Given the description of an element on the screen output the (x, y) to click on. 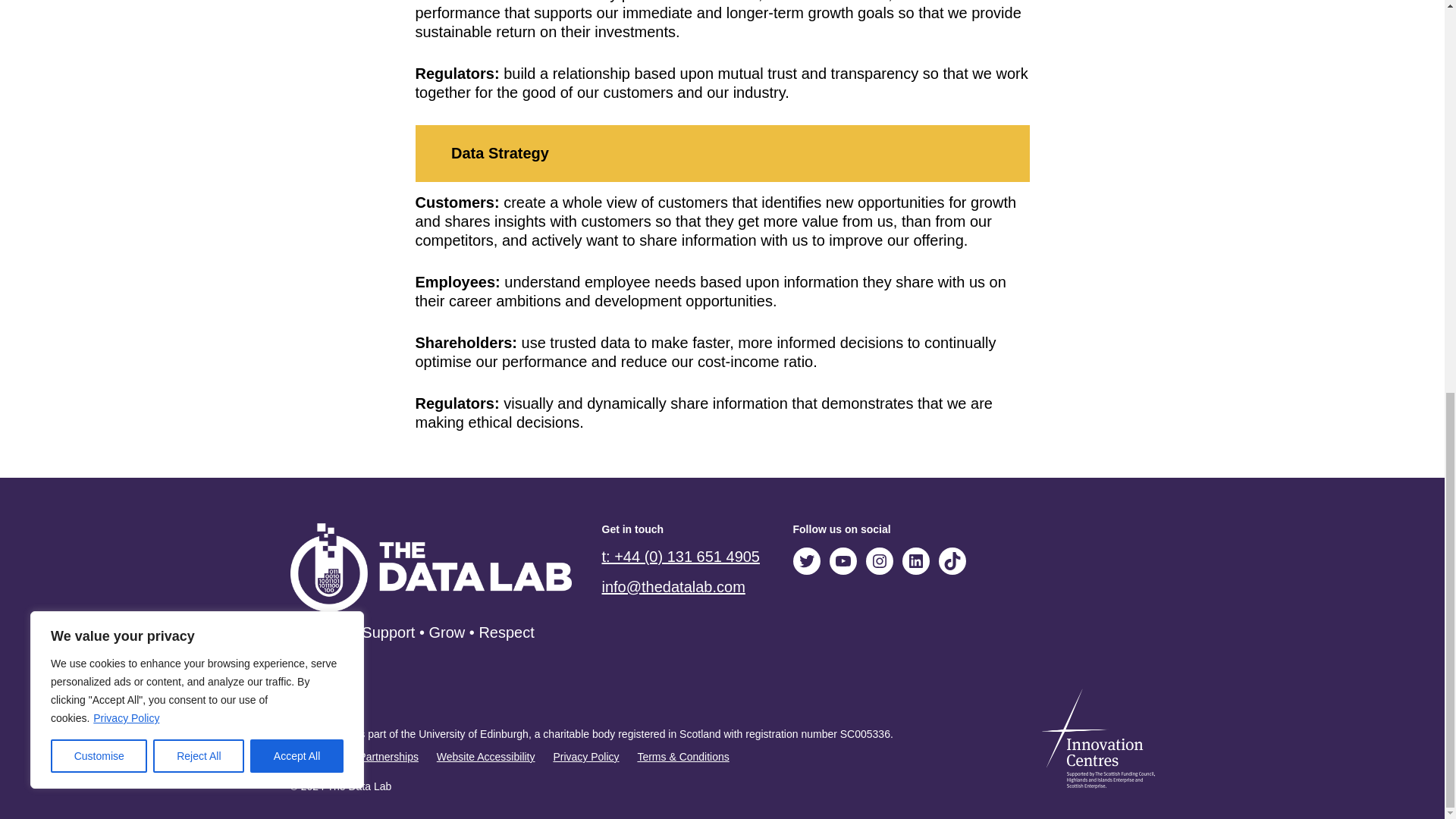
Reject All (198, 9)
Accept All (296, 9)
Customise (98, 9)
